Given the description of an element on the screen output the (x, y) to click on. 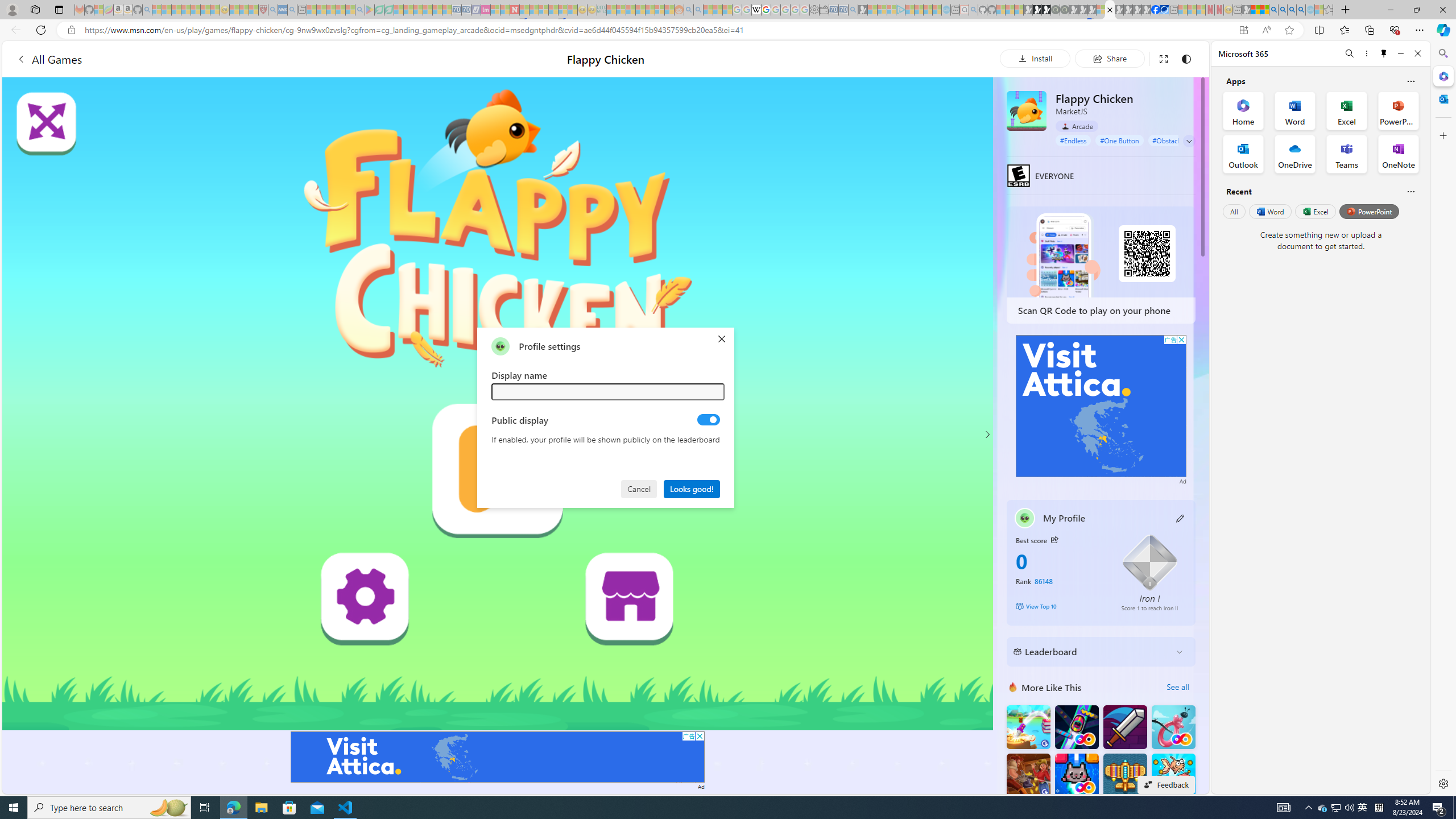
Latest Politics News & Archive | Newsweek.com - Sleeping (514, 9)
Advertisement (1101, 405)
utah sues federal government - Search - Sleeping (291, 9)
Nordace | Facebook (1154, 9)
Wallet - Sleeping (823, 9)
